Given the description of an element on the screen output the (x, y) to click on. 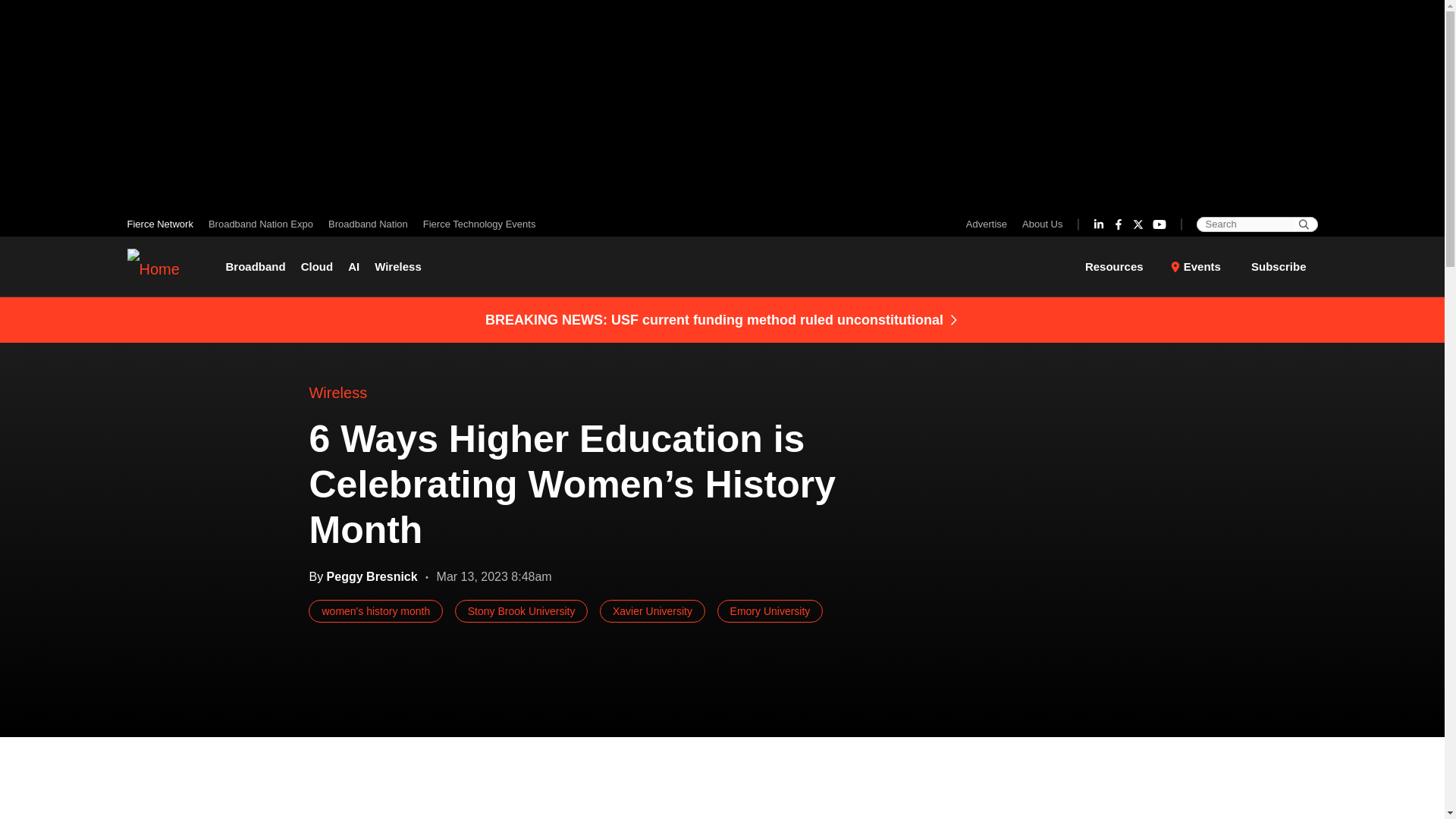
Broadband Nation (367, 224)
Cloud (317, 266)
Resources (1122, 266)
Wireless (397, 266)
Broadband Nation Expo (260, 224)
About Us (1038, 224)
AI (353, 266)
Subscribe (1278, 265)
Advertise (990, 224)
Fierce Technology Events (474, 224)
Fierce Network (164, 224)
Broadband (259, 266)
